Given the description of an element on the screen output the (x, y) to click on. 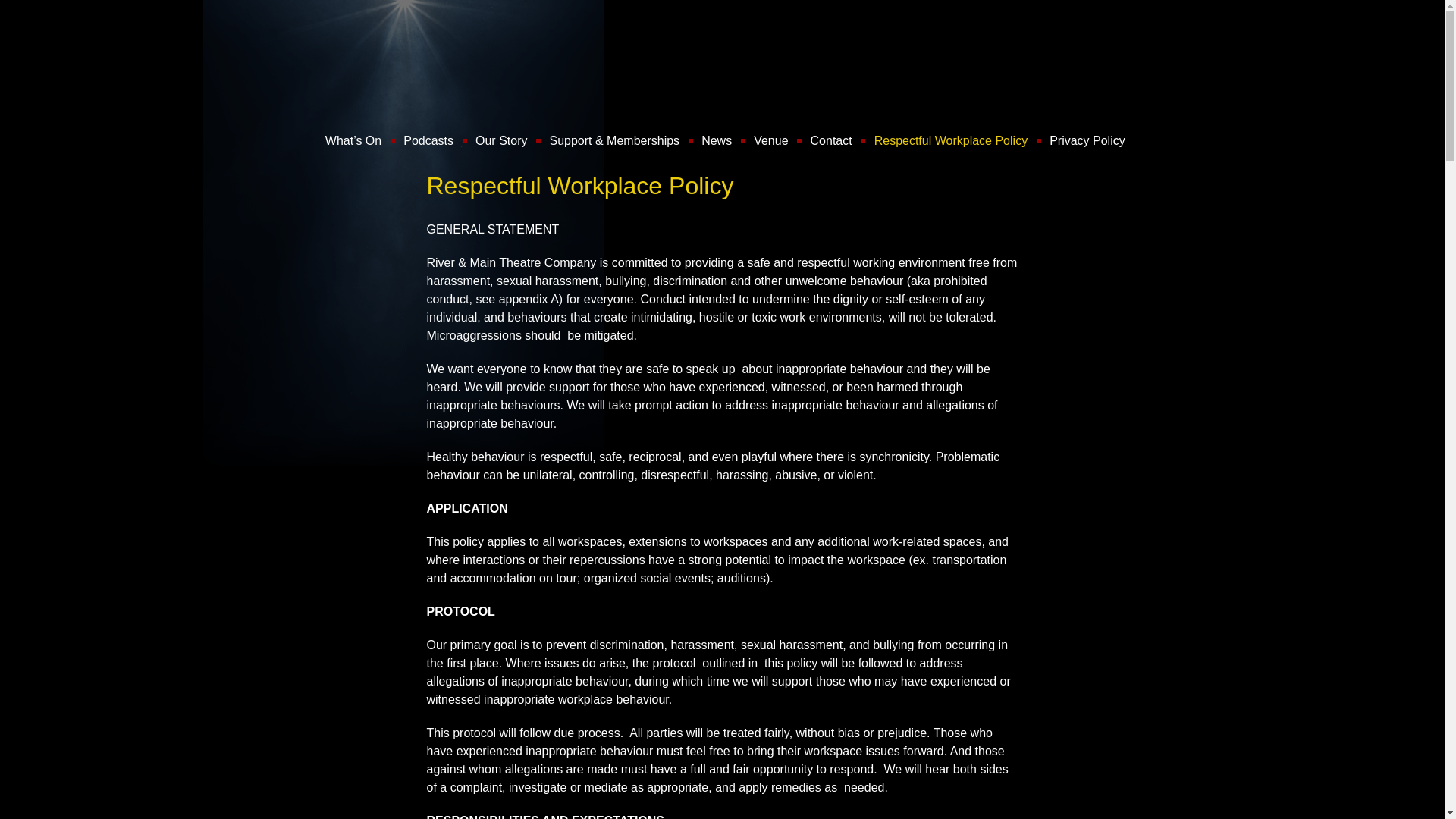
News (716, 140)
Privacy Policy (1087, 140)
Respectful Workplace Policy (949, 140)
Our Story (501, 140)
Contact (831, 140)
Venue (770, 140)
Podcasts (427, 140)
